Given the description of an element on the screen output the (x, y) to click on. 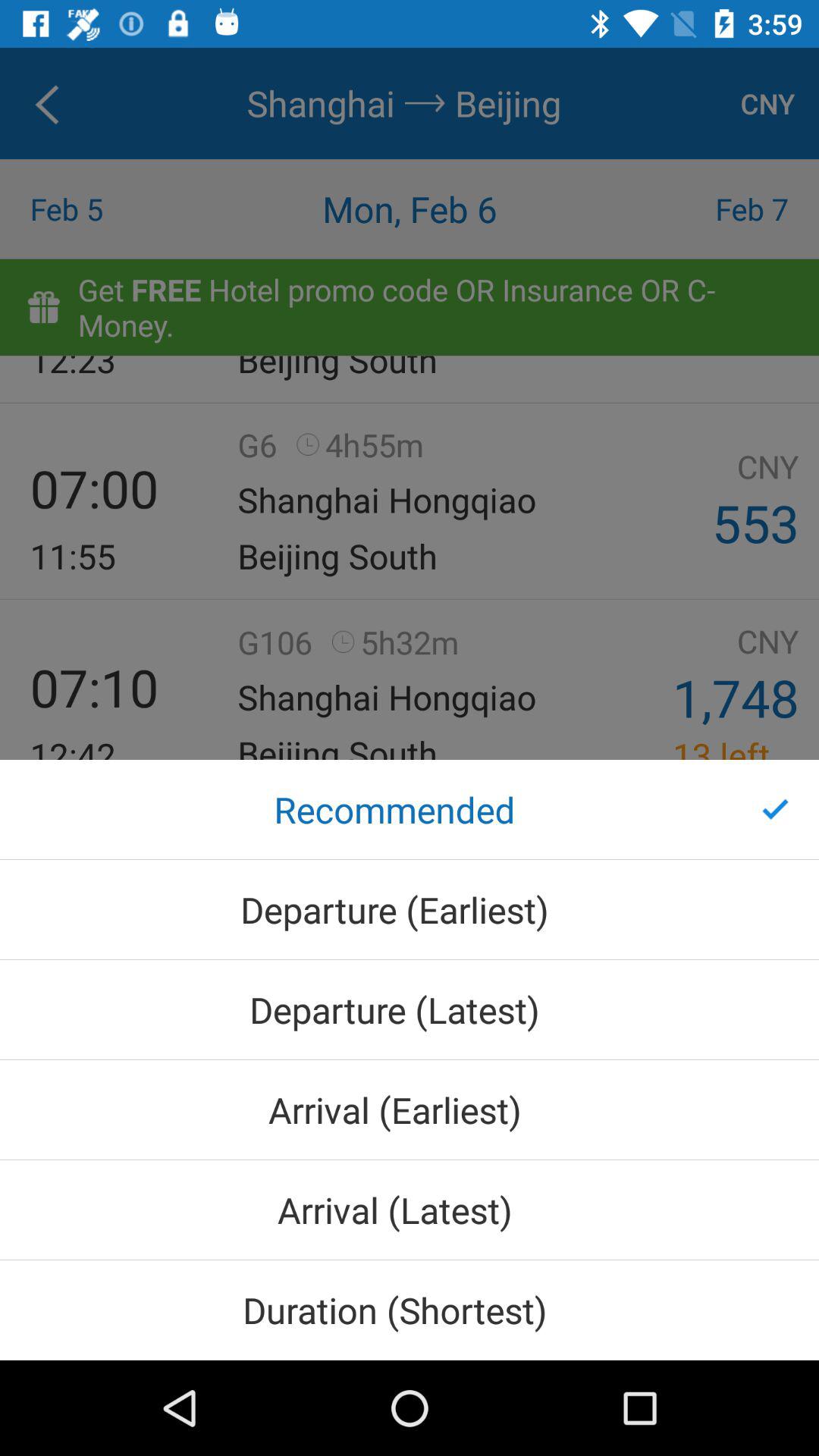
flip to arrival (earliest) (409, 1109)
